Given the description of an element on the screen output the (x, y) to click on. 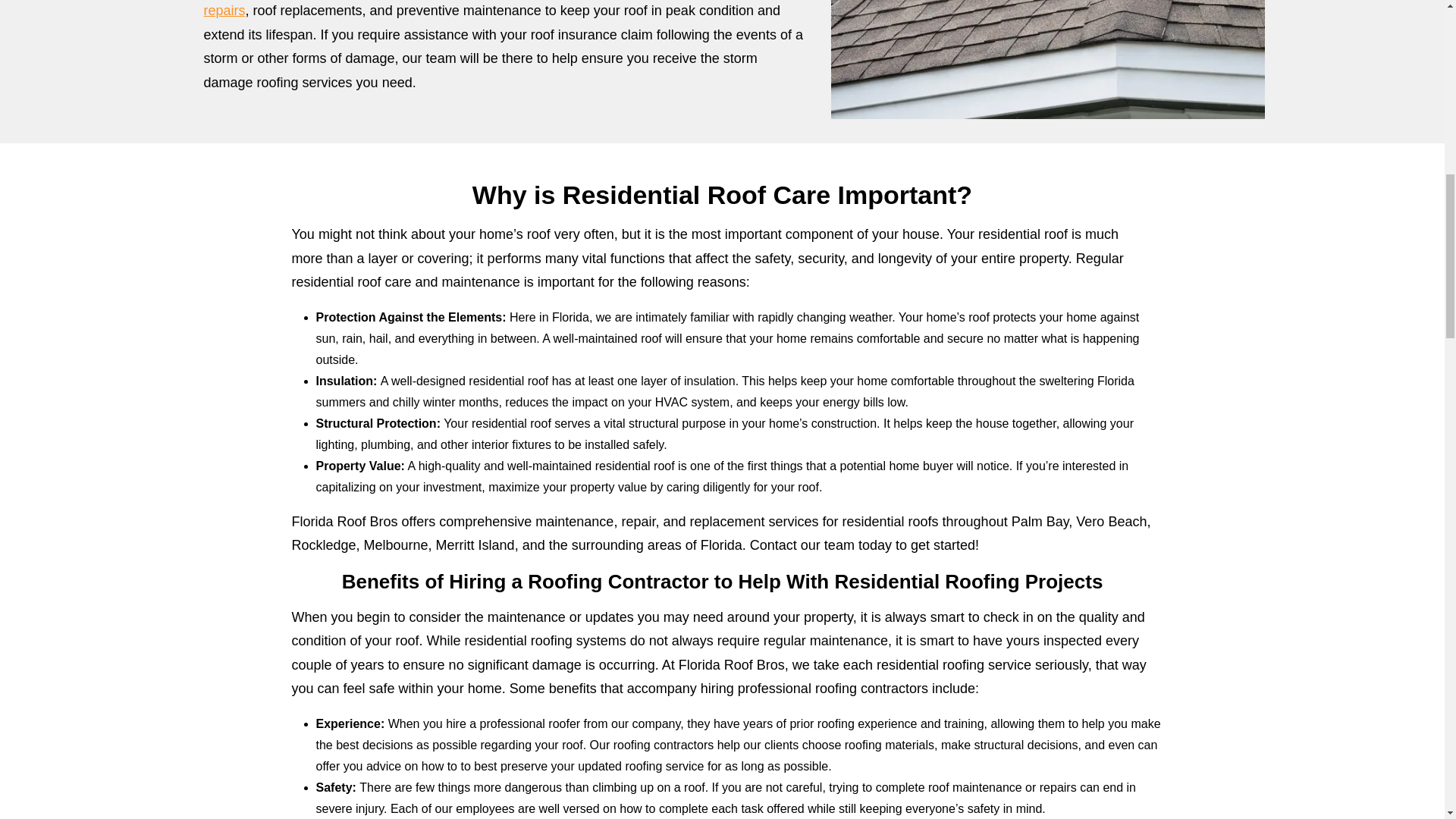
roof repairs (497, 9)
